Given the description of an element on the screen output the (x, y) to click on. 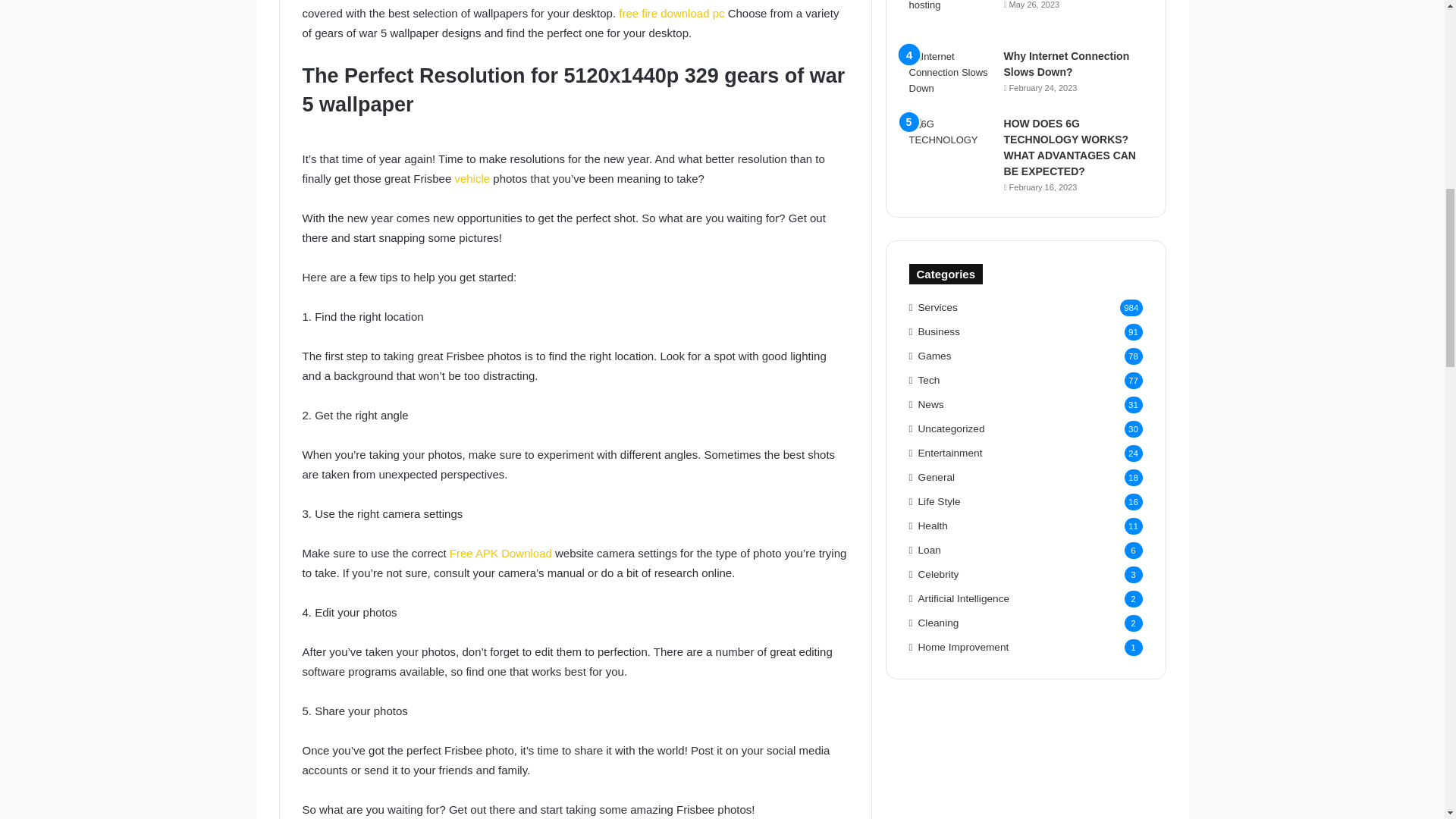
free fire download pc (670, 12)
vehicle (471, 178)
Free APK Download (498, 553)
